Given the description of an element on the screen output the (x, y) to click on. 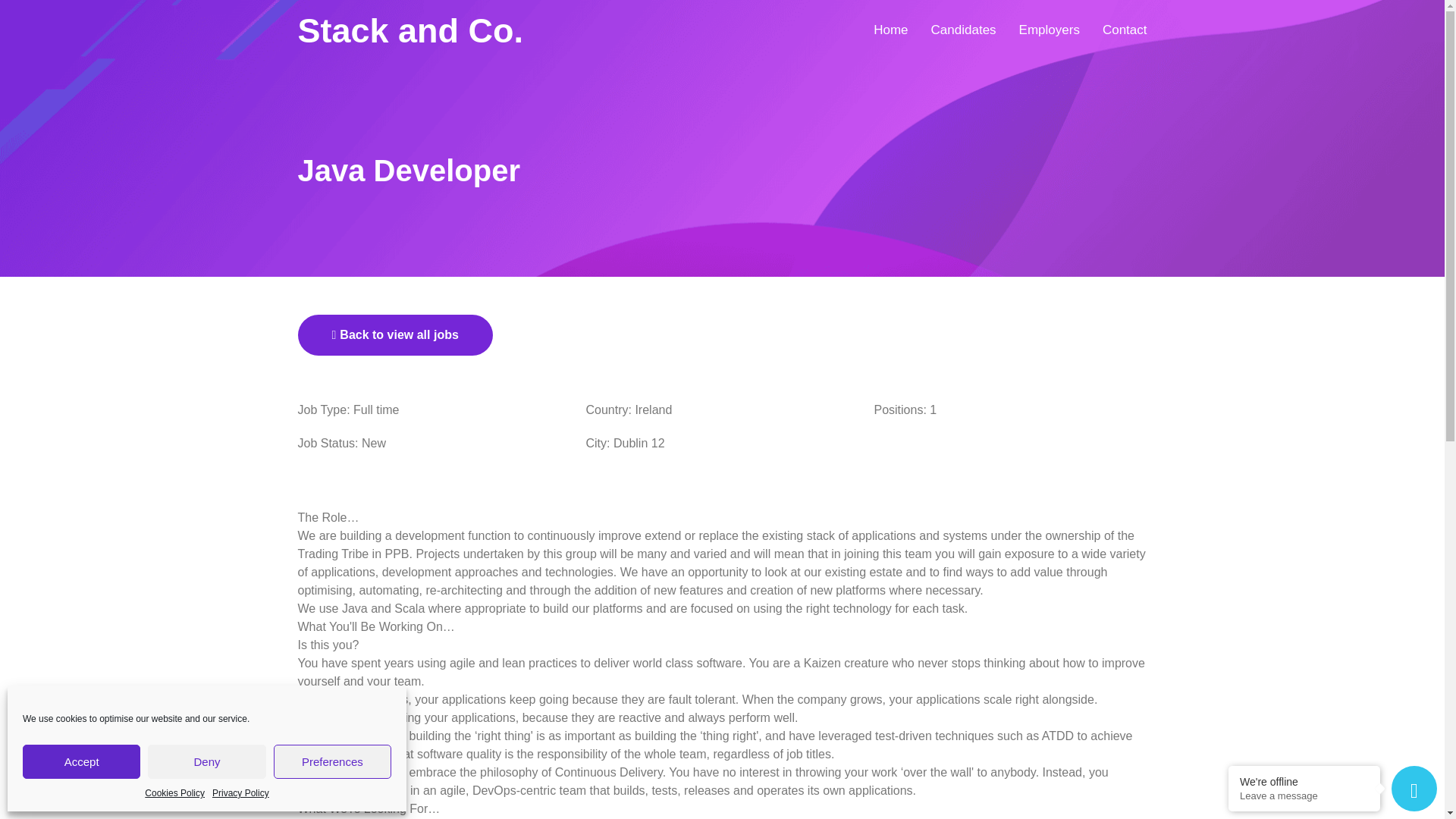
Deny (206, 761)
Leave a message (1304, 795)
Privacy Policy (240, 793)
Home (895, 30)
We're offline (1304, 781)
Preferences (332, 761)
Accept (81, 761)
Stack and Co. (409, 29)
Candidates (963, 30)
Cookies Policy (174, 793)
Contact (1118, 30)
Employers (1048, 30)
